Given the description of an element on the screen output the (x, y) to click on. 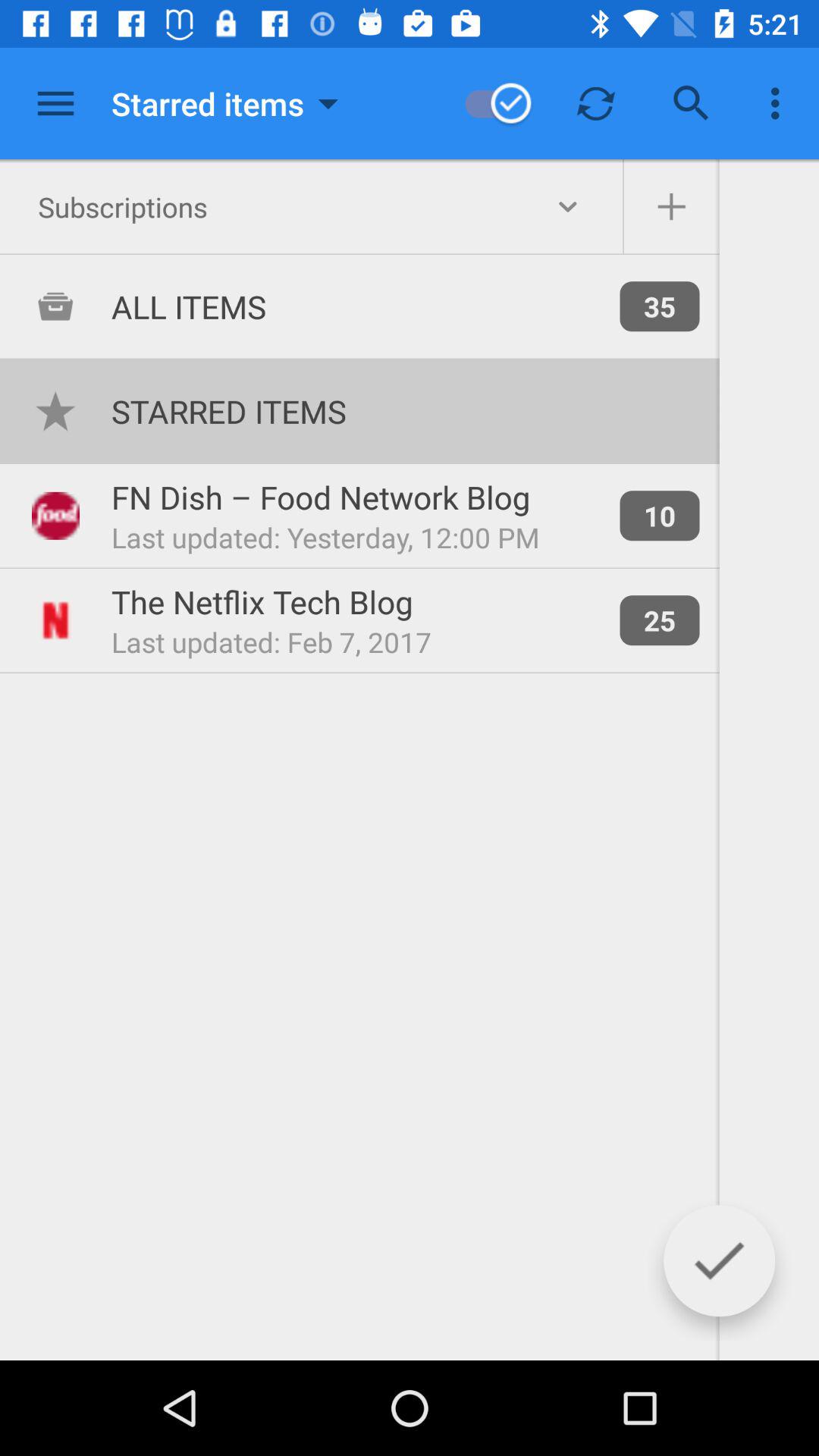
refresh (595, 103)
